Given the description of an element on the screen output the (x, y) to click on. 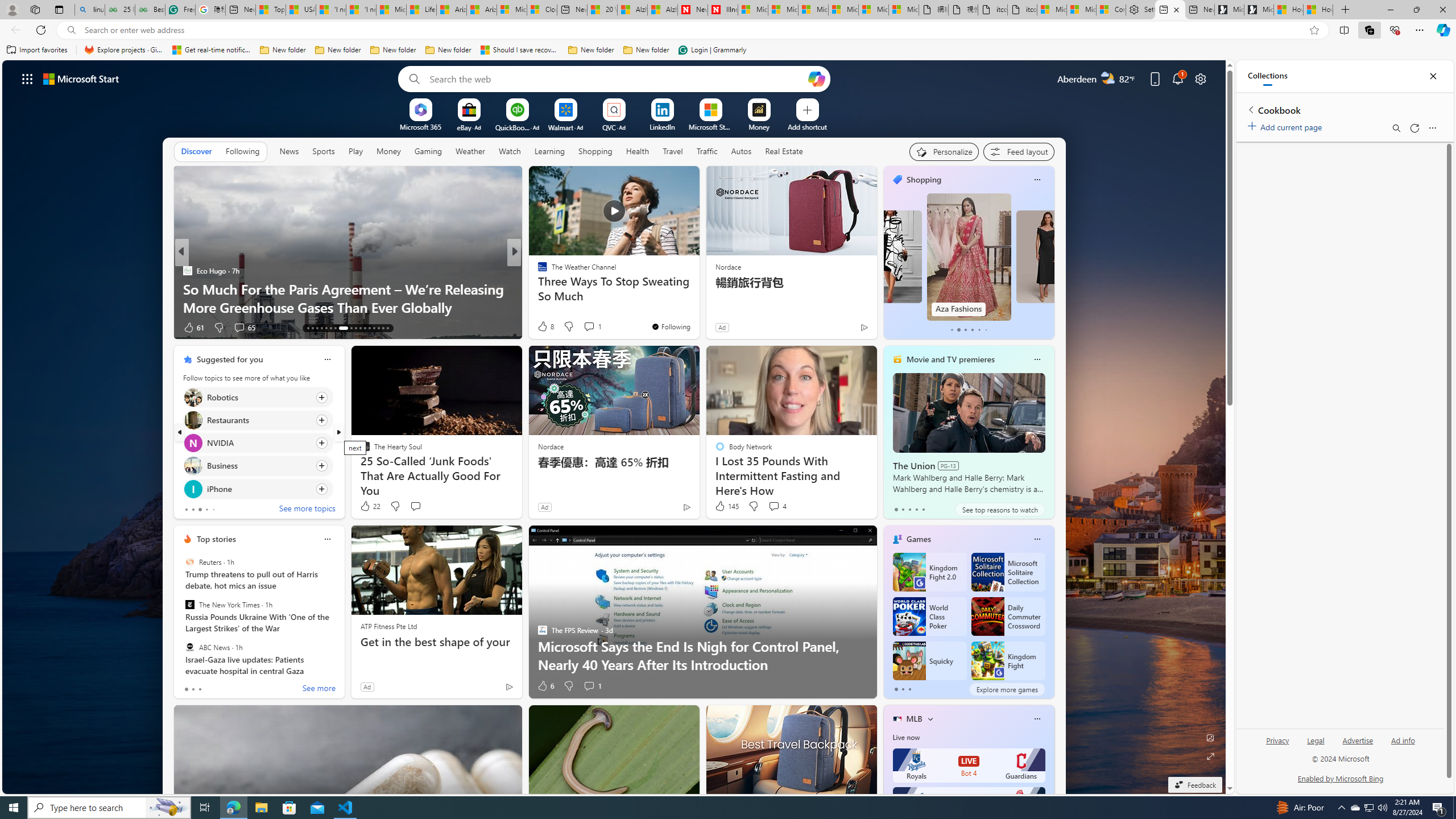
tab-0 (895, 689)
6 Like (545, 685)
Partly cloudy (1107, 78)
linux basic - Search (89, 9)
Consumer Health Data Privacy Policy (1111, 9)
Back to list of collections (1250, 109)
Suggested for you (229, 359)
222 Like (545, 327)
